Given the description of an element on the screen output the (x, y) to click on. 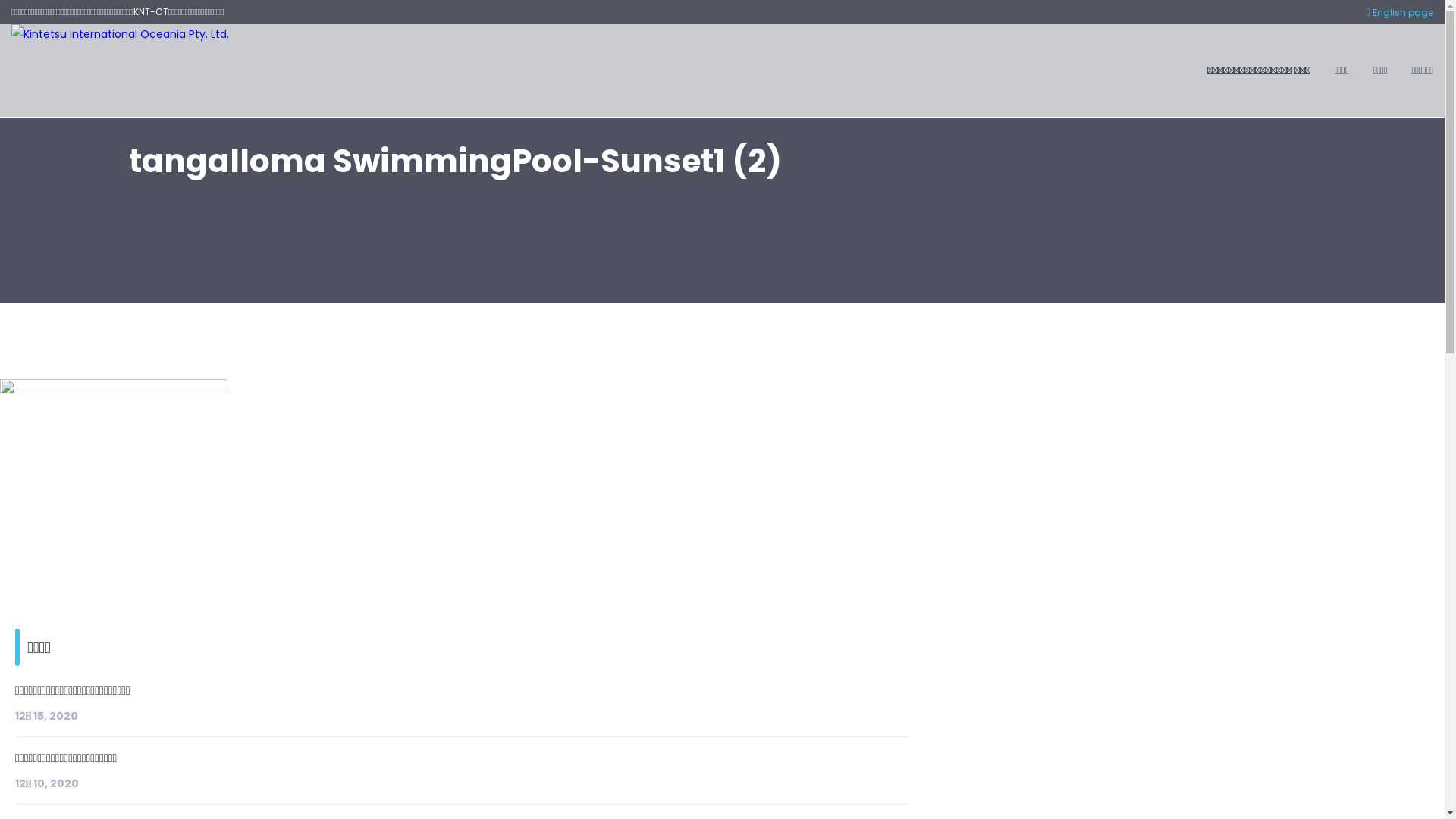
English page Element type: text (1399, 12)
